Given the description of an element on the screen output the (x, y) to click on. 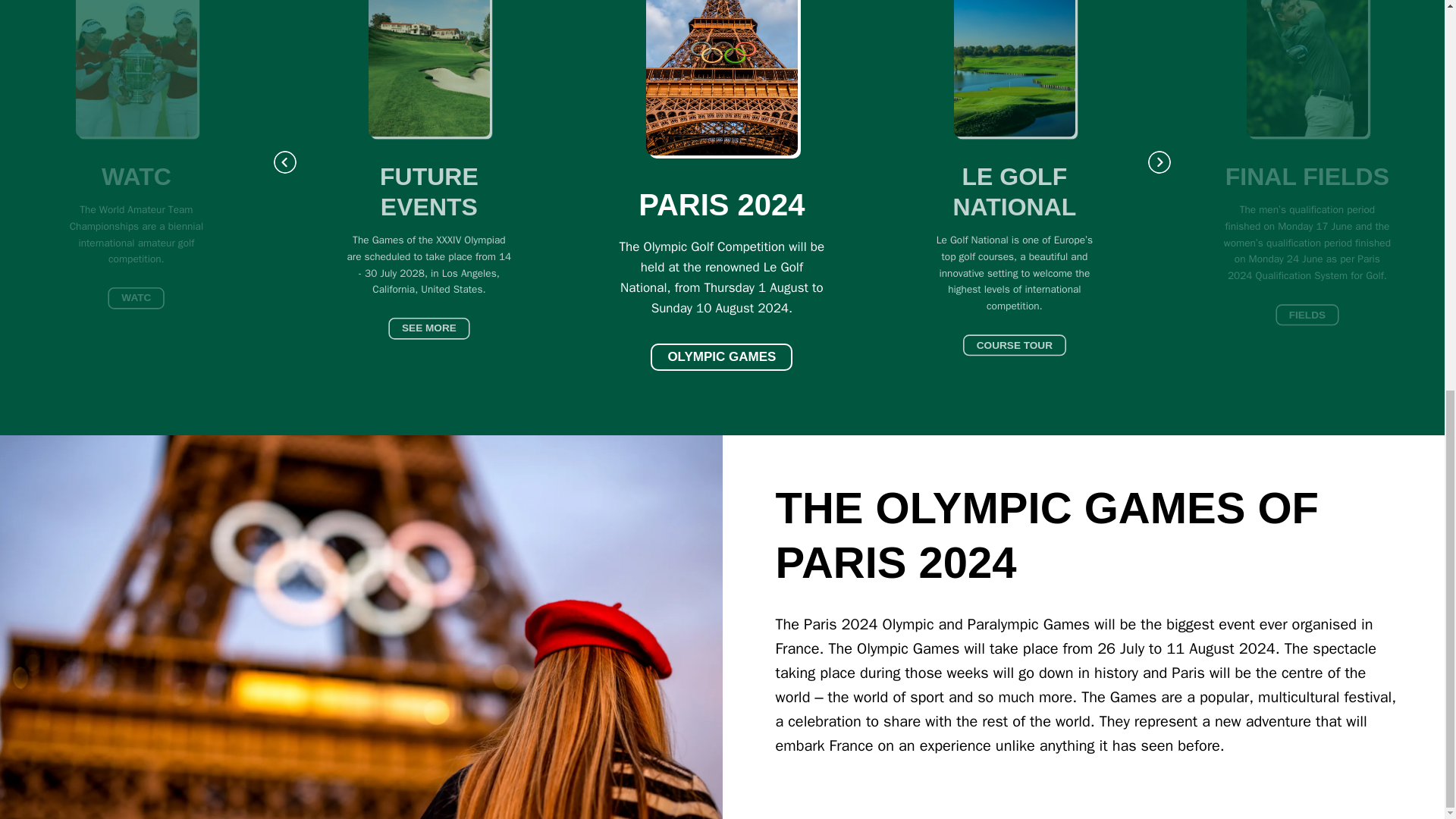
SEE MORE (439, 330)
WATC (143, 300)
OLYMPIC GAMES (721, 356)
COURSE TOUR (1026, 346)
SEE MORE (439, 330)
OLYMPIC GAMES (721, 356)
WATC (143, 300)
FIELDS (1314, 316)
